Given the description of an element on the screen output the (x, y) to click on. 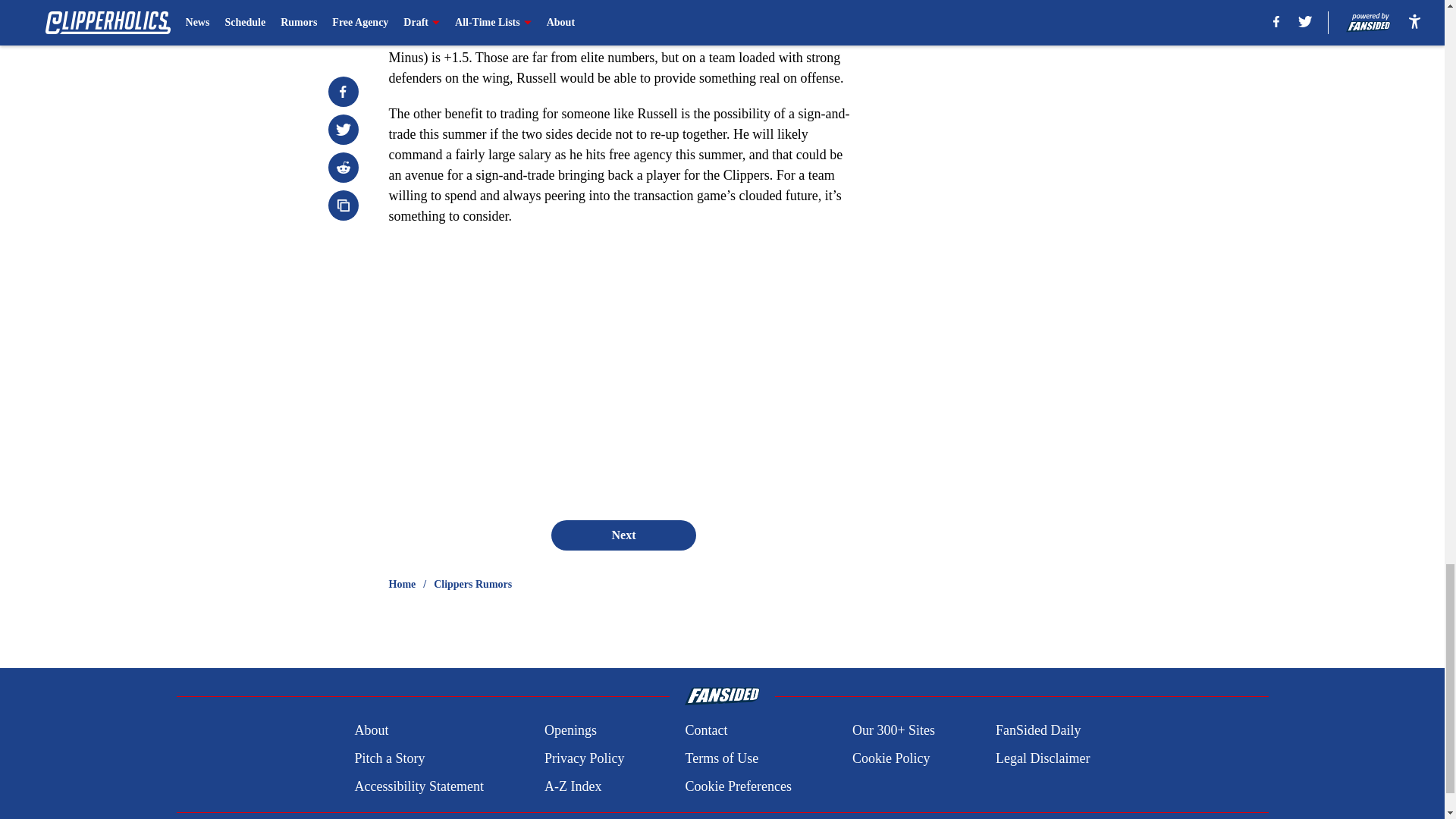
Openings (570, 730)
Next (622, 535)
Home (401, 584)
Contact (705, 730)
Clippers Rumors (472, 584)
FanSided Daily (1038, 730)
Pitch a Story (389, 758)
About (370, 730)
